Given the description of an element on the screen output the (x, y) to click on. 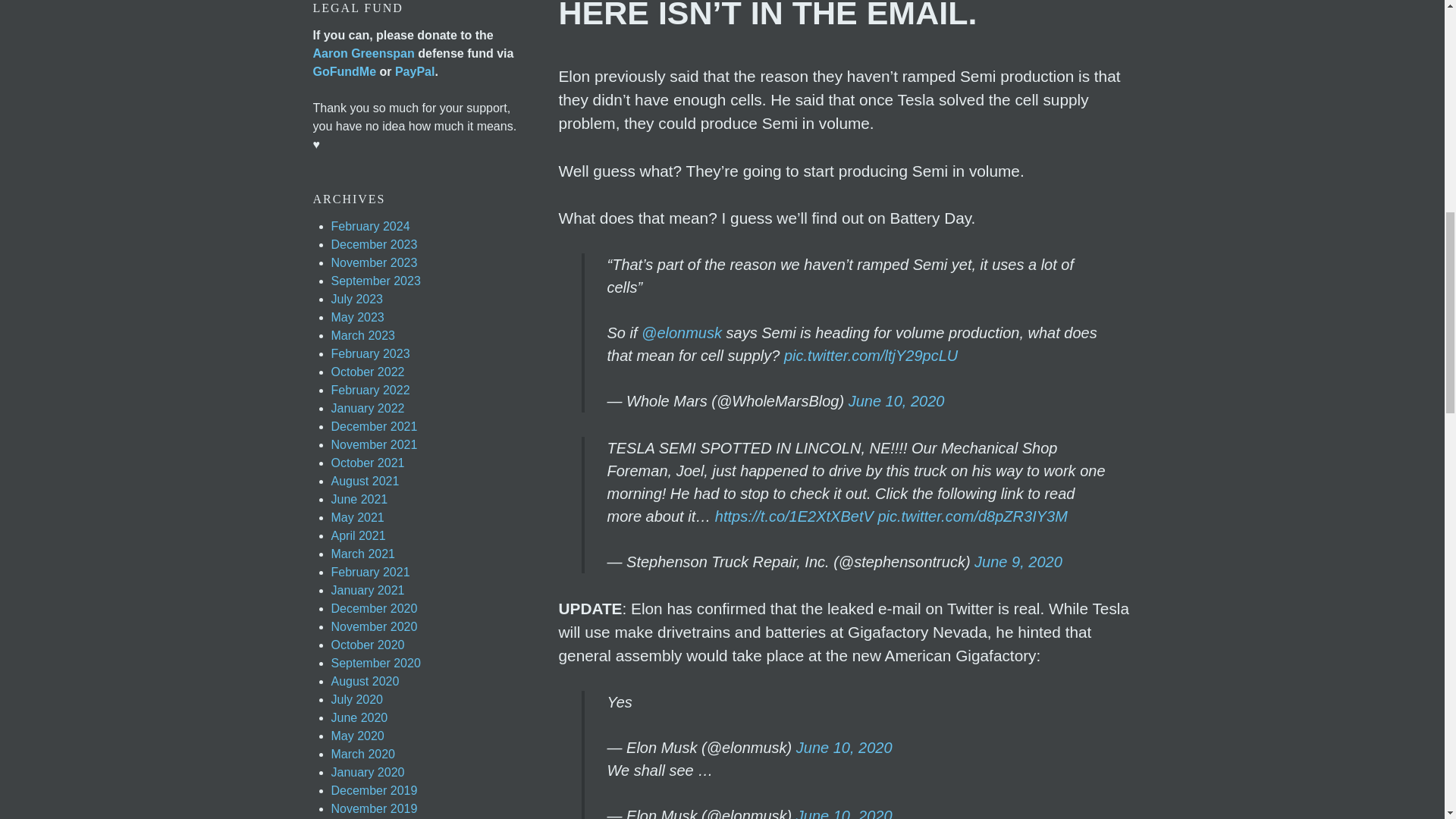
GoFundMe (344, 71)
June 9, 2020 (1018, 561)
June 10, 2020 (844, 813)
June 10, 2020 (896, 401)
June 10, 2020 (844, 747)
Aaron Greenspan (363, 52)
